Given the description of an element on the screen output the (x, y) to click on. 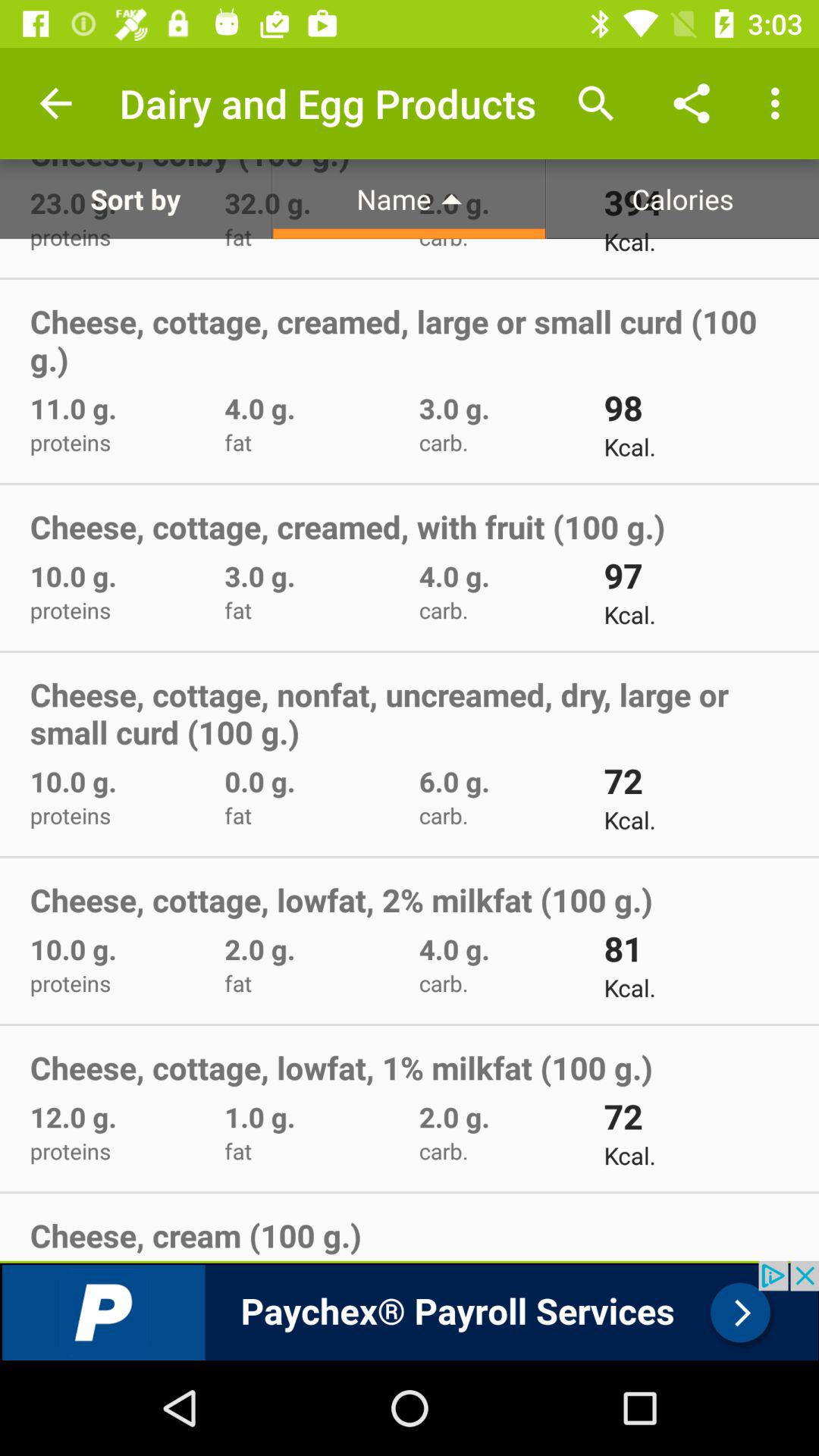
click to view paychex payroll services website (409, 1310)
